Given the description of an element on the screen output the (x, y) to click on. 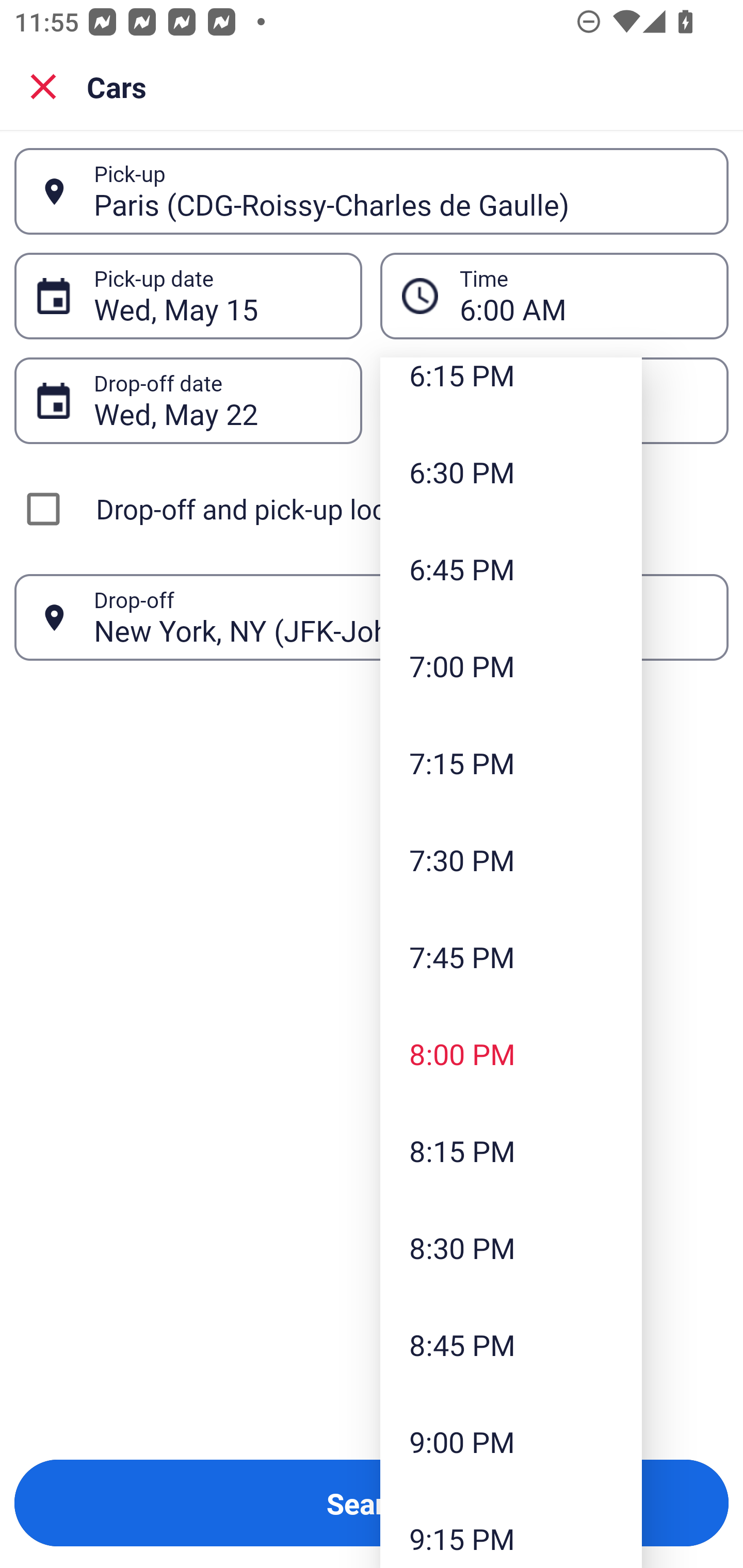
6:15 PM (510, 390)
6:30 PM (510, 471)
6:45 PM (510, 568)
7:00 PM (510, 666)
7:15 PM (510, 762)
7:30 PM (510, 858)
7:45 PM (510, 956)
8:00 PM (510, 1053)
8:15 PM (510, 1150)
8:30 PM (510, 1247)
8:45 PM (510, 1344)
9:00 PM (510, 1440)
9:15 PM (510, 1528)
